Given the description of an element on the screen output the (x, y) to click on. 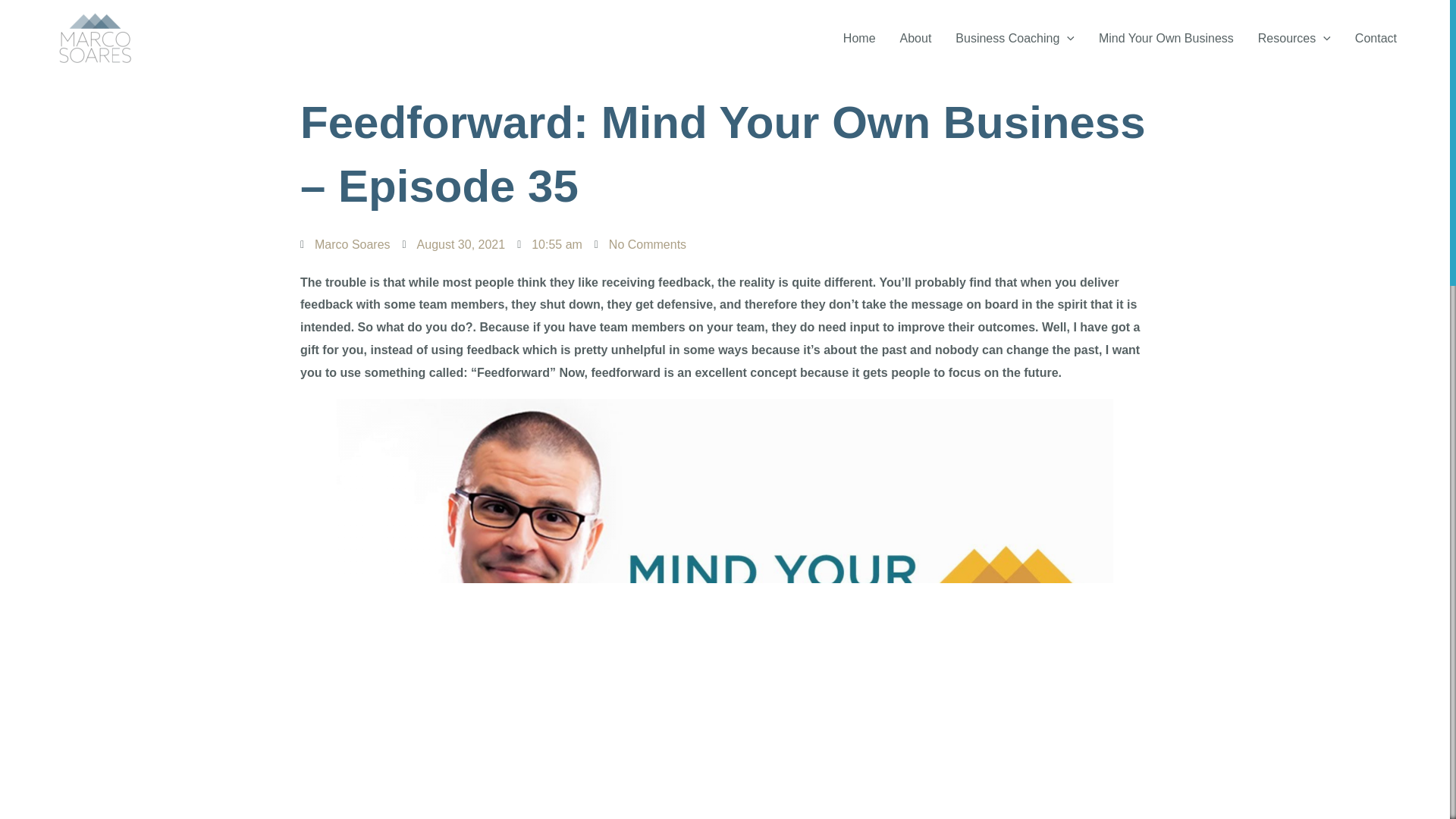
Contact (1375, 38)
Home (859, 38)
Mind Your Own Business (1166, 38)
About (915, 38)
Business Coaching (1014, 38)
Resources (1294, 38)
